Given the description of an element on the screen output the (x, y) to click on. 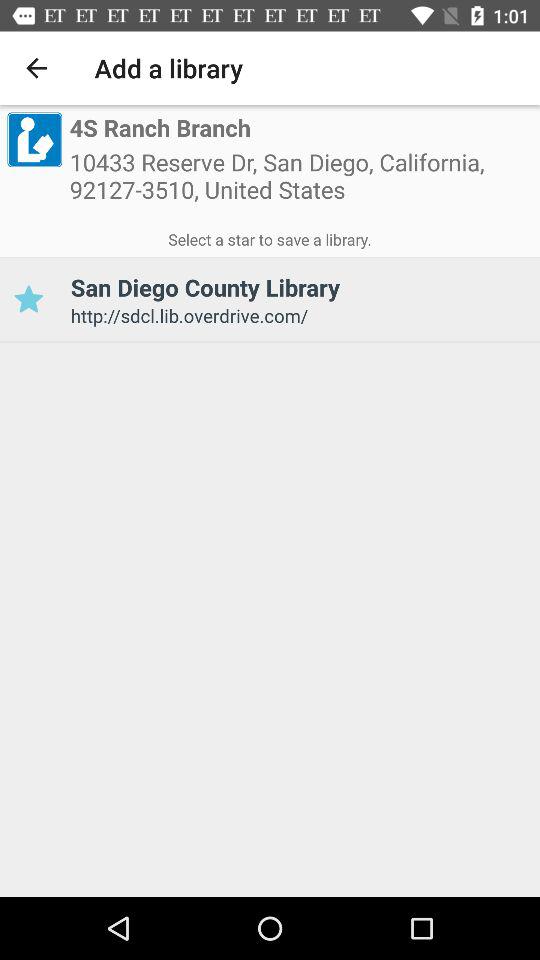
launch icon above select a star item (301, 182)
